Given the description of an element on the screen output the (x, y) to click on. 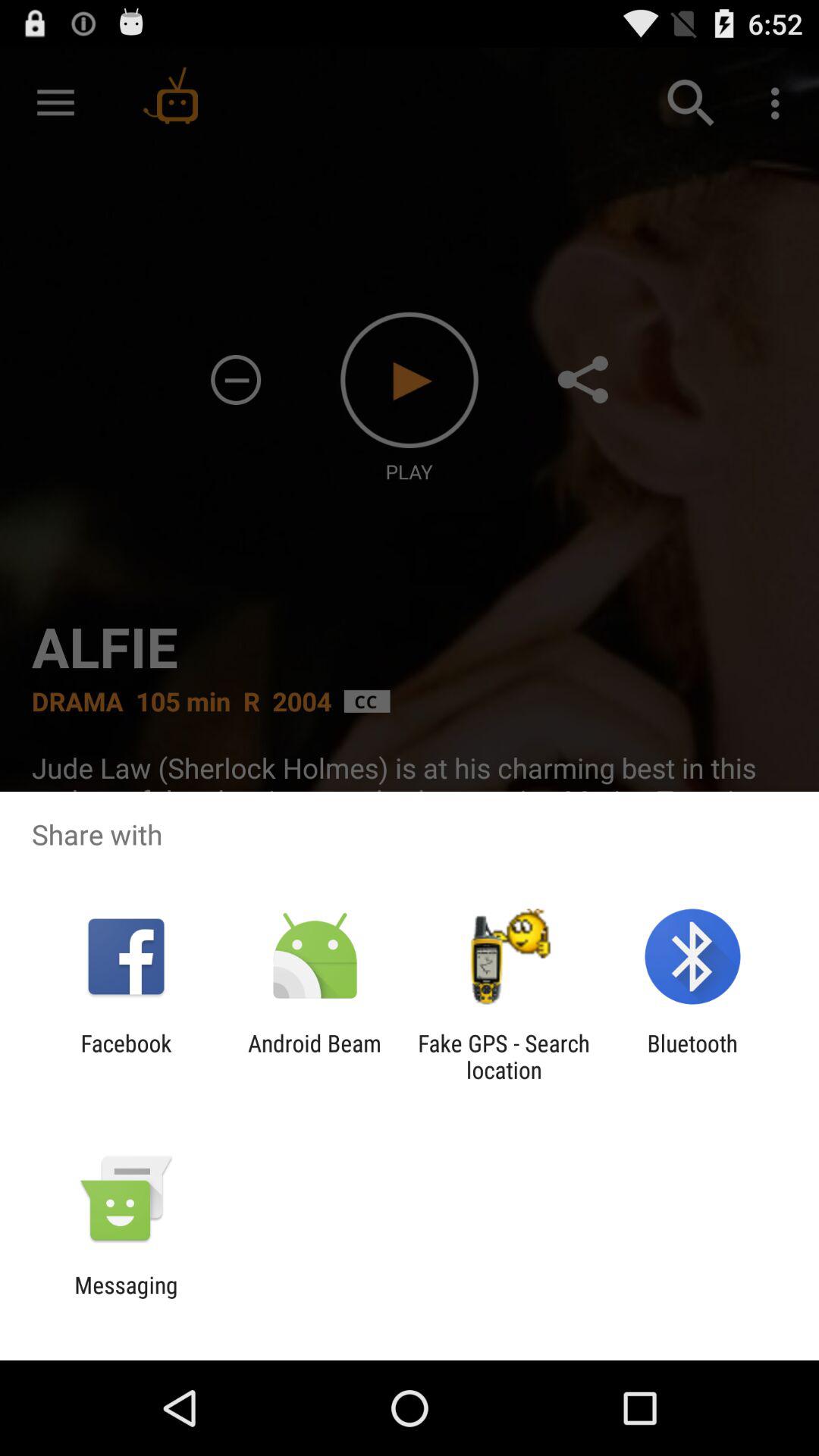
swipe until the android beam app (314, 1056)
